Given the description of an element on the screen output the (x, y) to click on. 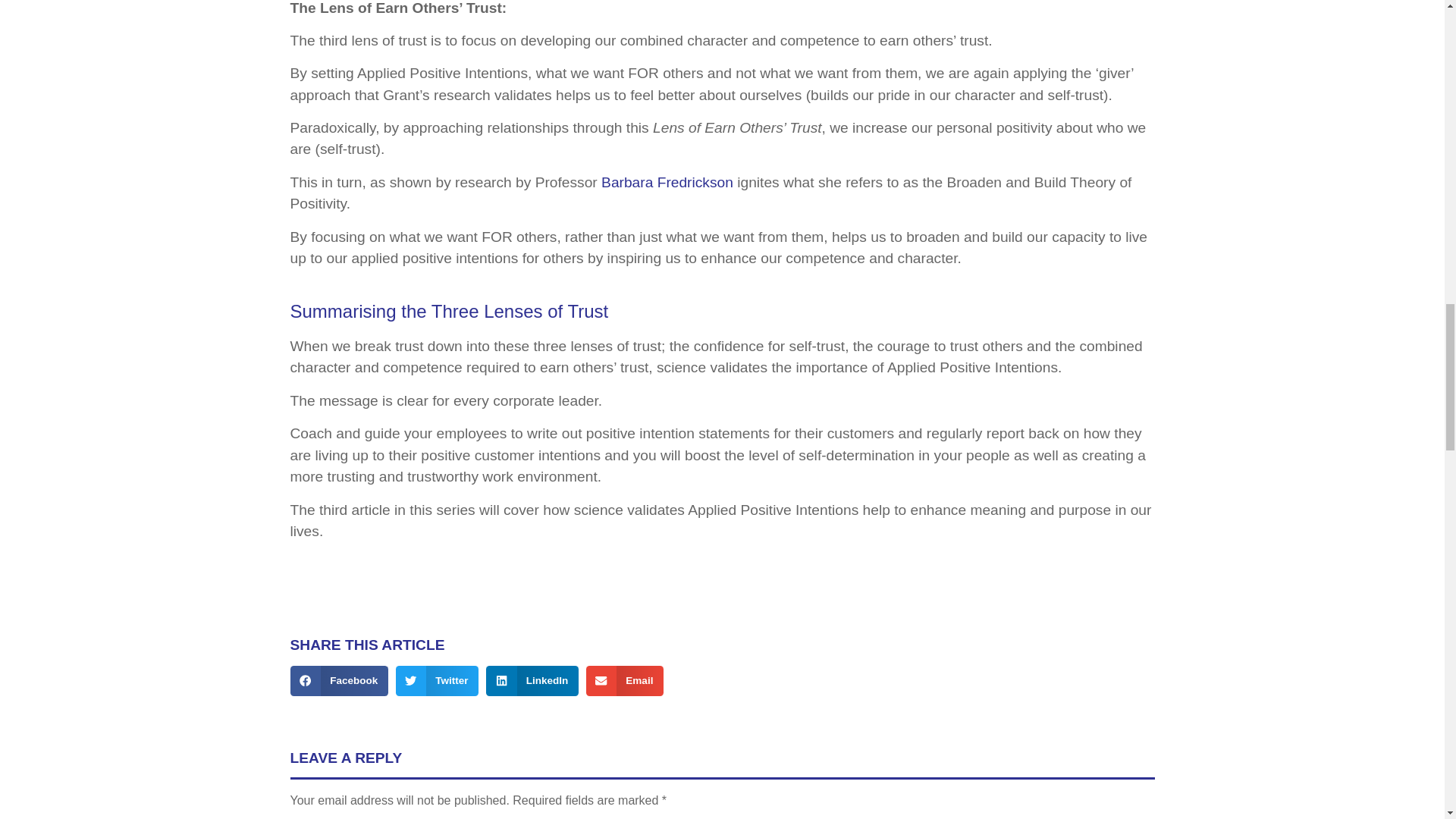
Barbara Fredrickson (667, 182)
